Given the description of an element on the screen output the (x, y) to click on. 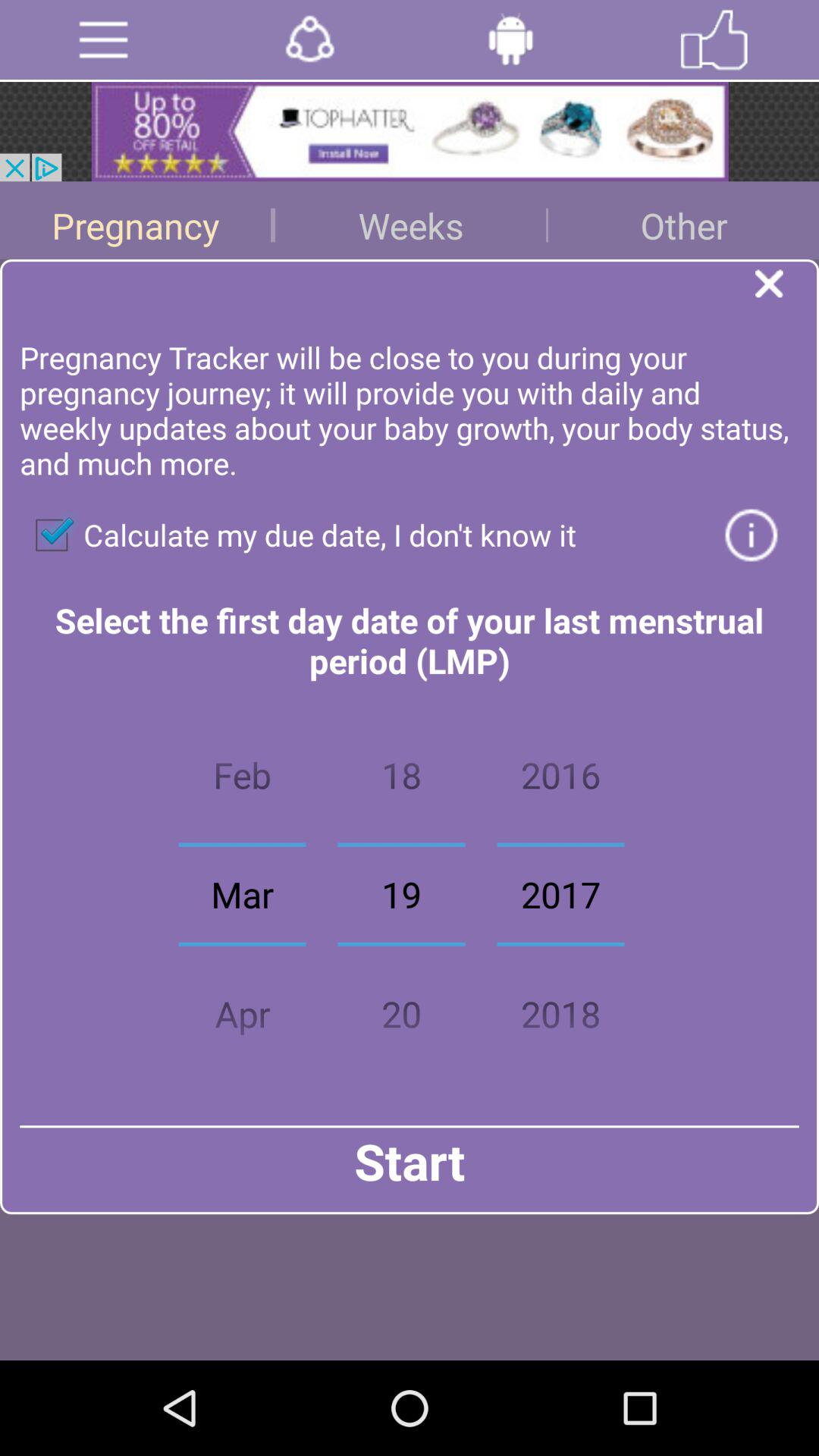
share the article (409, 131)
